Given the description of an element on the screen output the (x, y) to click on. 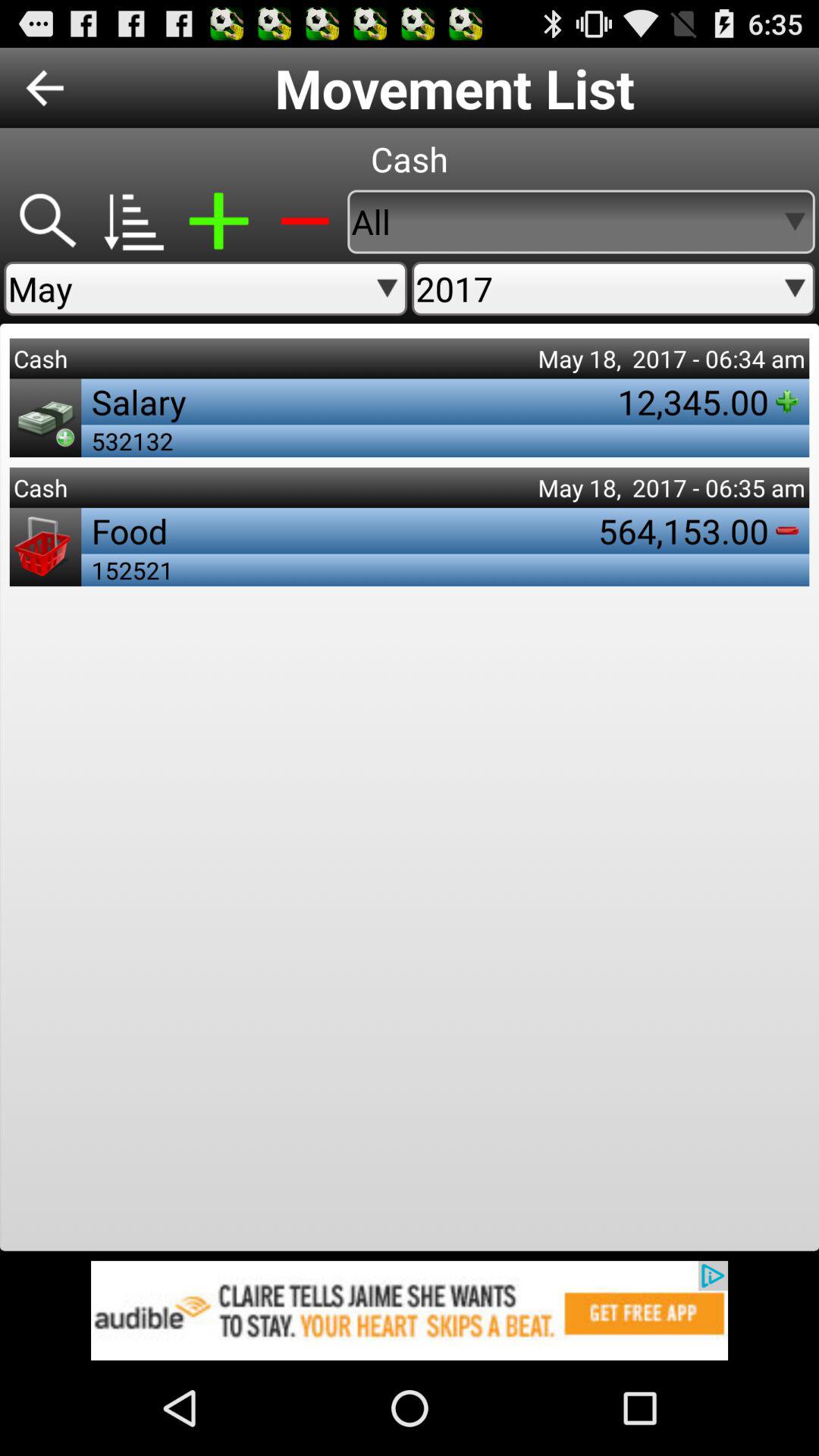
this is an advertisement click on it for more information (409, 1310)
